Given the description of an element on the screen output the (x, y) to click on. 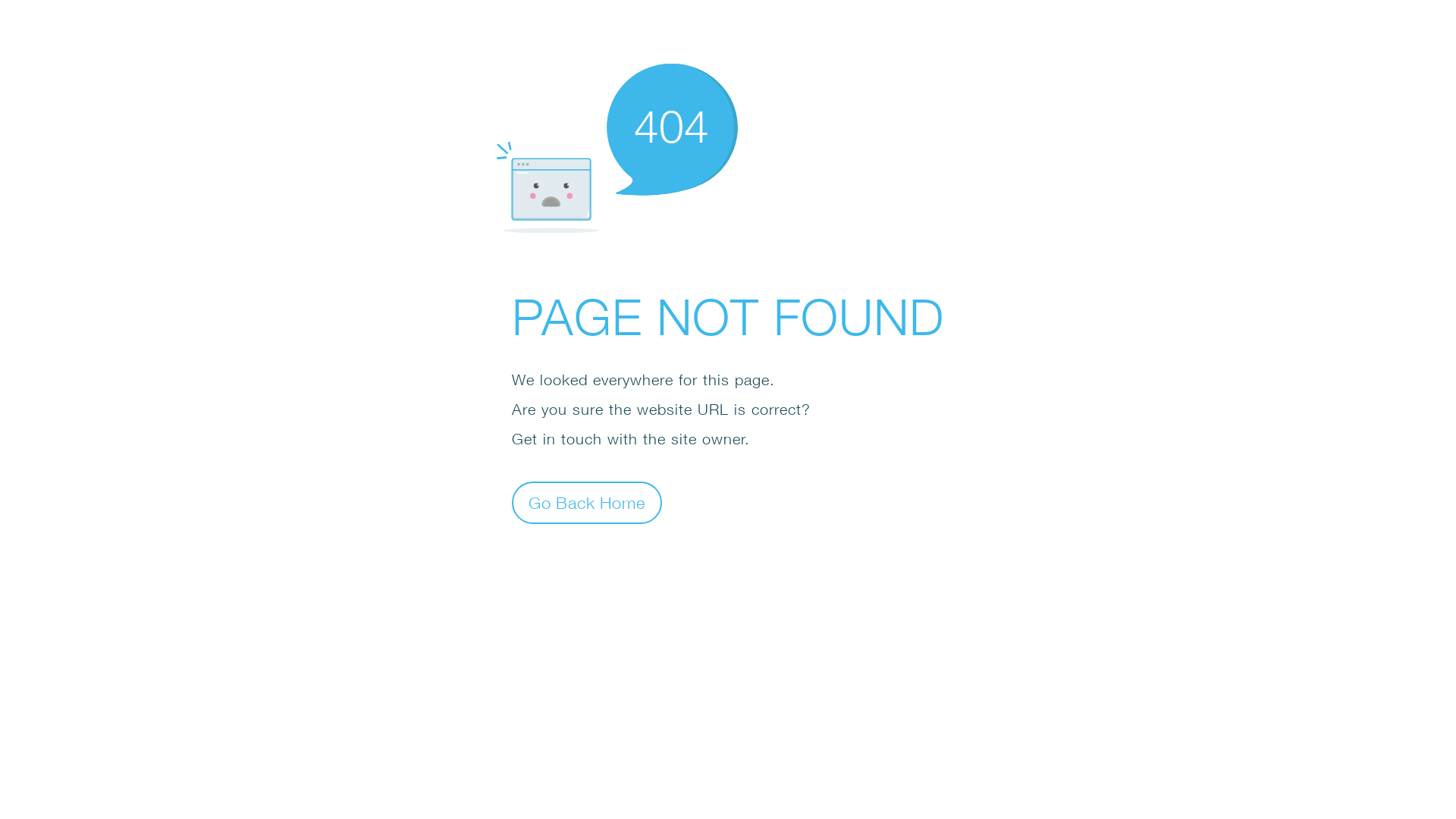
Go Back Home Element type: text (586, 502)
